Given the description of an element on the screen output the (x, y) to click on. 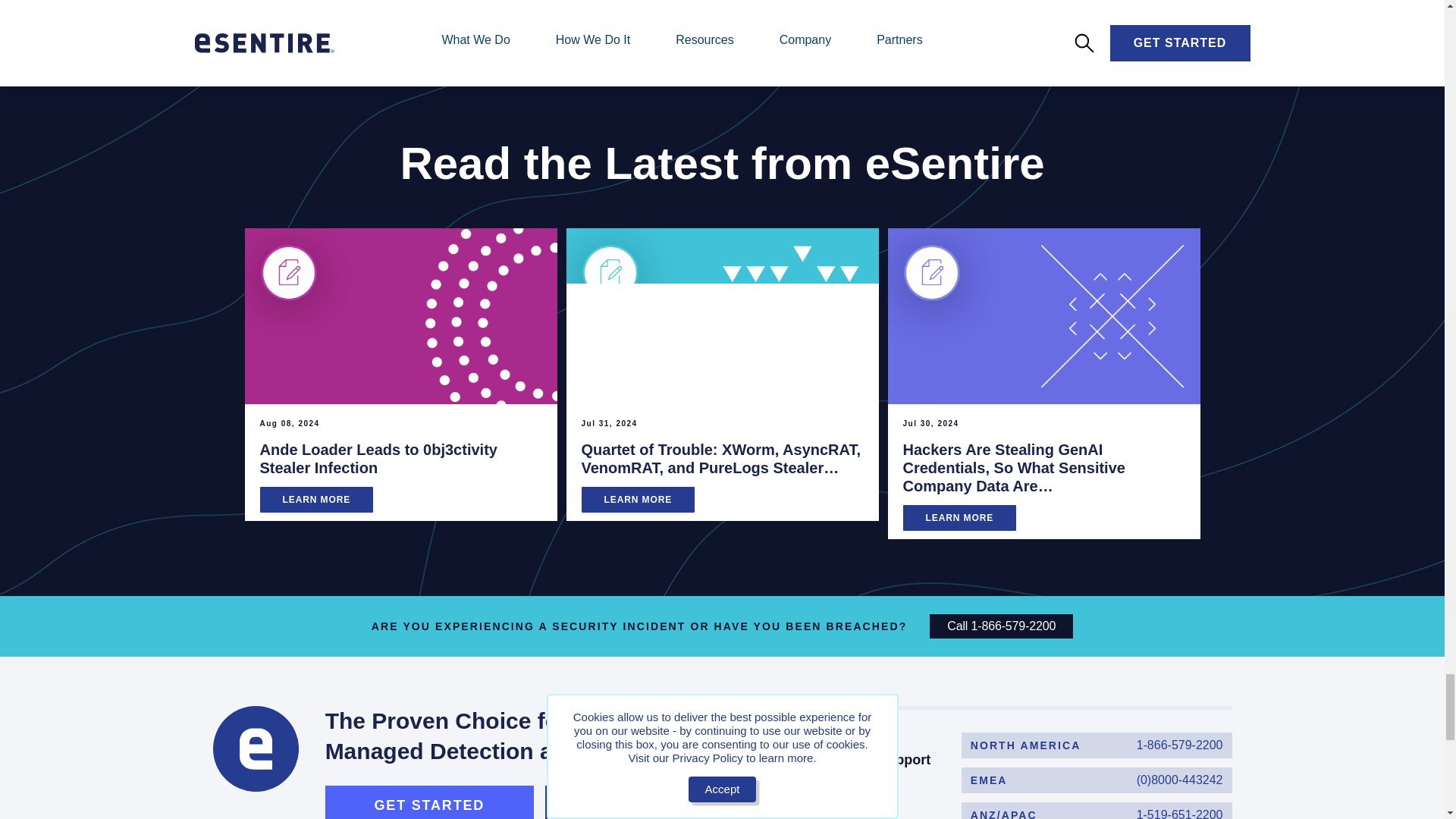
Call 1-866-579-2200 (1001, 626)
GET STARTED (1095, 745)
PARTNER LOGIN (429, 802)
